Given the description of an element on the screen output the (x, y) to click on. 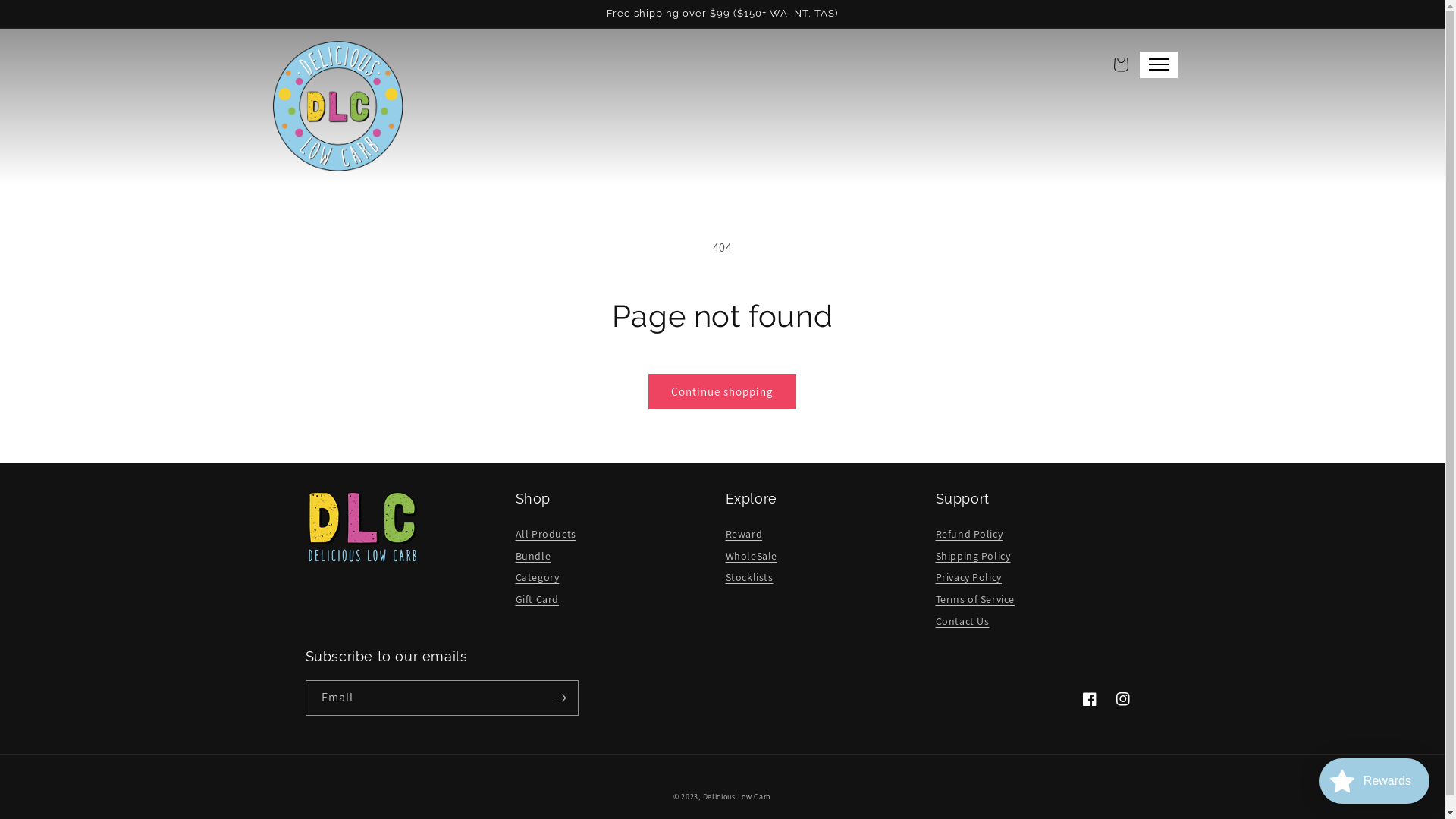
Bundle Element type: text (533, 555)
WholeSale Element type: text (750, 555)
Continue shopping Element type: text (722, 391)
Stocklists Element type: text (748, 576)
Privacy Policy Element type: text (968, 576)
Contact Us Element type: text (962, 620)
Reward Element type: text (743, 533)
Cart Element type: text (1120, 64)
Facebook Element type: text (1088, 698)
Refund Policy Element type: text (969, 533)
All Products Element type: text (545, 533)
Category Element type: text (537, 576)
Delicious Low Carb Element type: text (736, 796)
Instagram Element type: text (1122, 698)
Shipping Policy Element type: text (972, 555)
Terms of Service Element type: text (975, 598)
Gift Card Element type: text (536, 598)
